Given the description of an element on the screen output the (x, y) to click on. 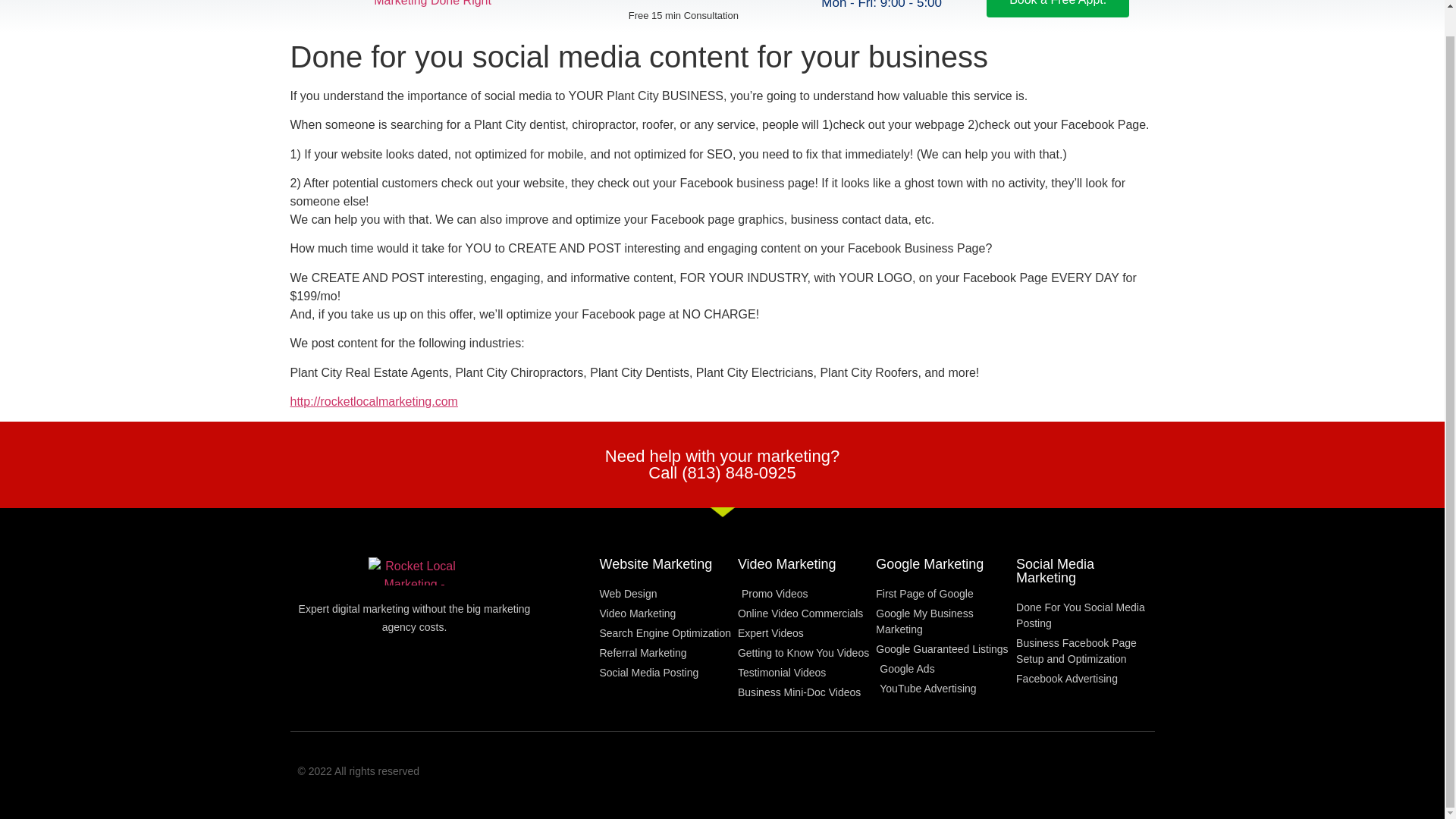
Book a Free Appt. (1058, 8)
